Given the description of an element on the screen output the (x, y) to click on. 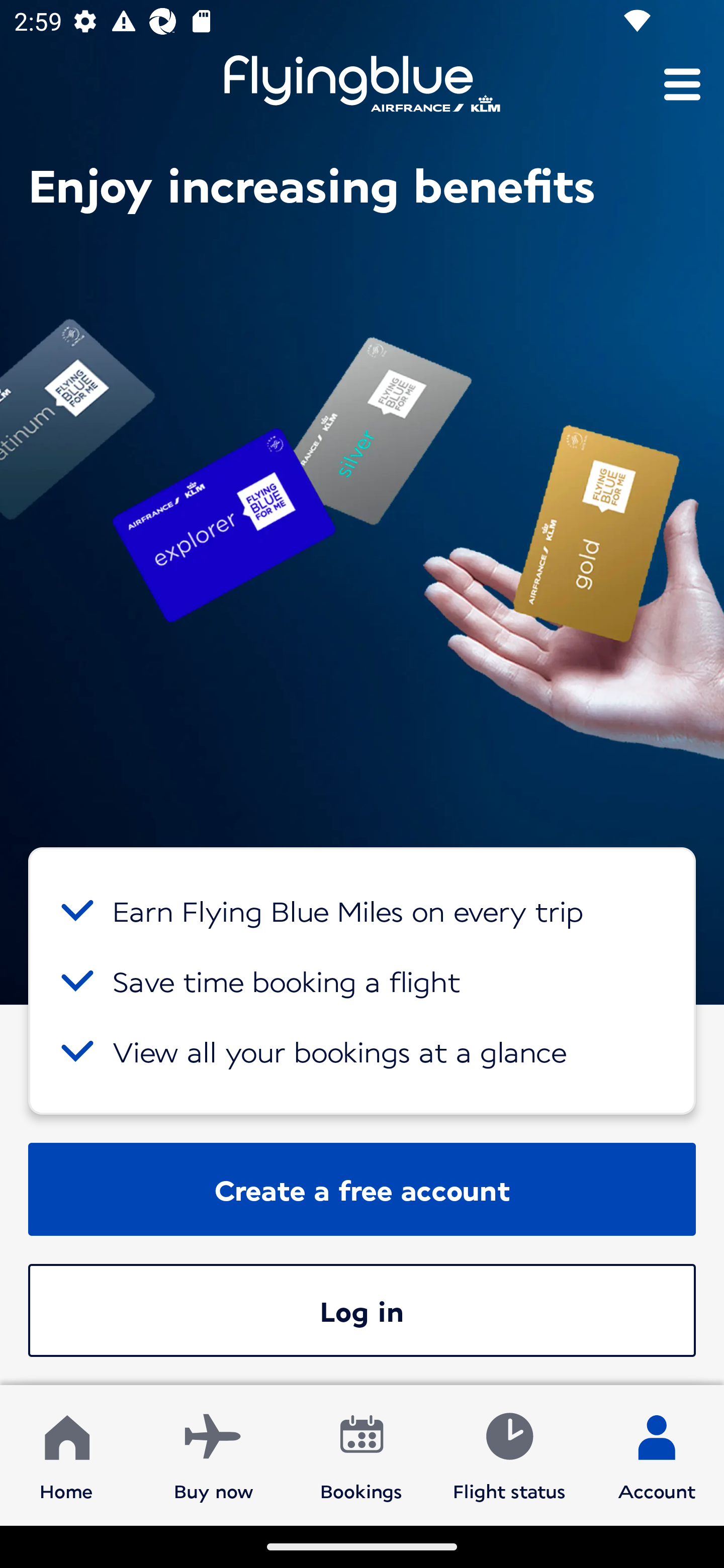
Create a free account (361, 1189)
Log in (361, 1309)
Home (66, 1454)
Buy now (213, 1454)
Bookings (361, 1454)
Flight status (509, 1454)
